Given the description of an element on the screen output the (x, y) to click on. 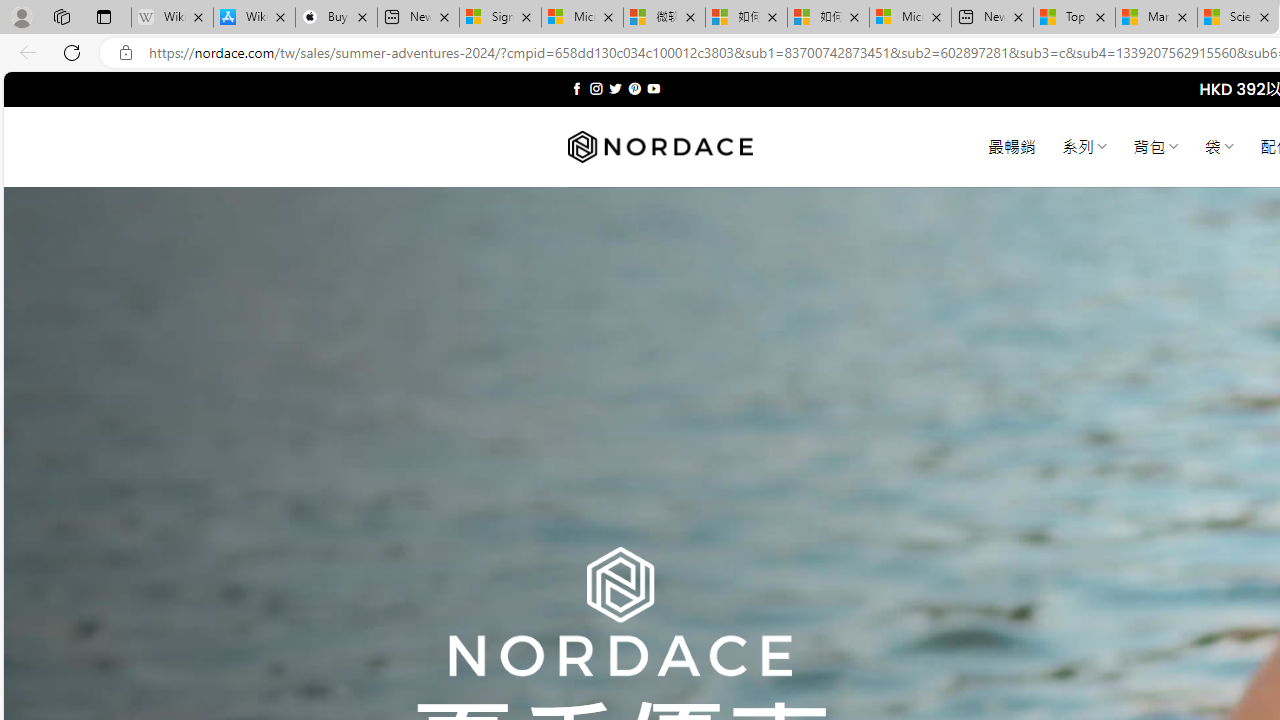
Follow on Instagram (596, 88)
